Given the description of an element on the screen output the (x, y) to click on. 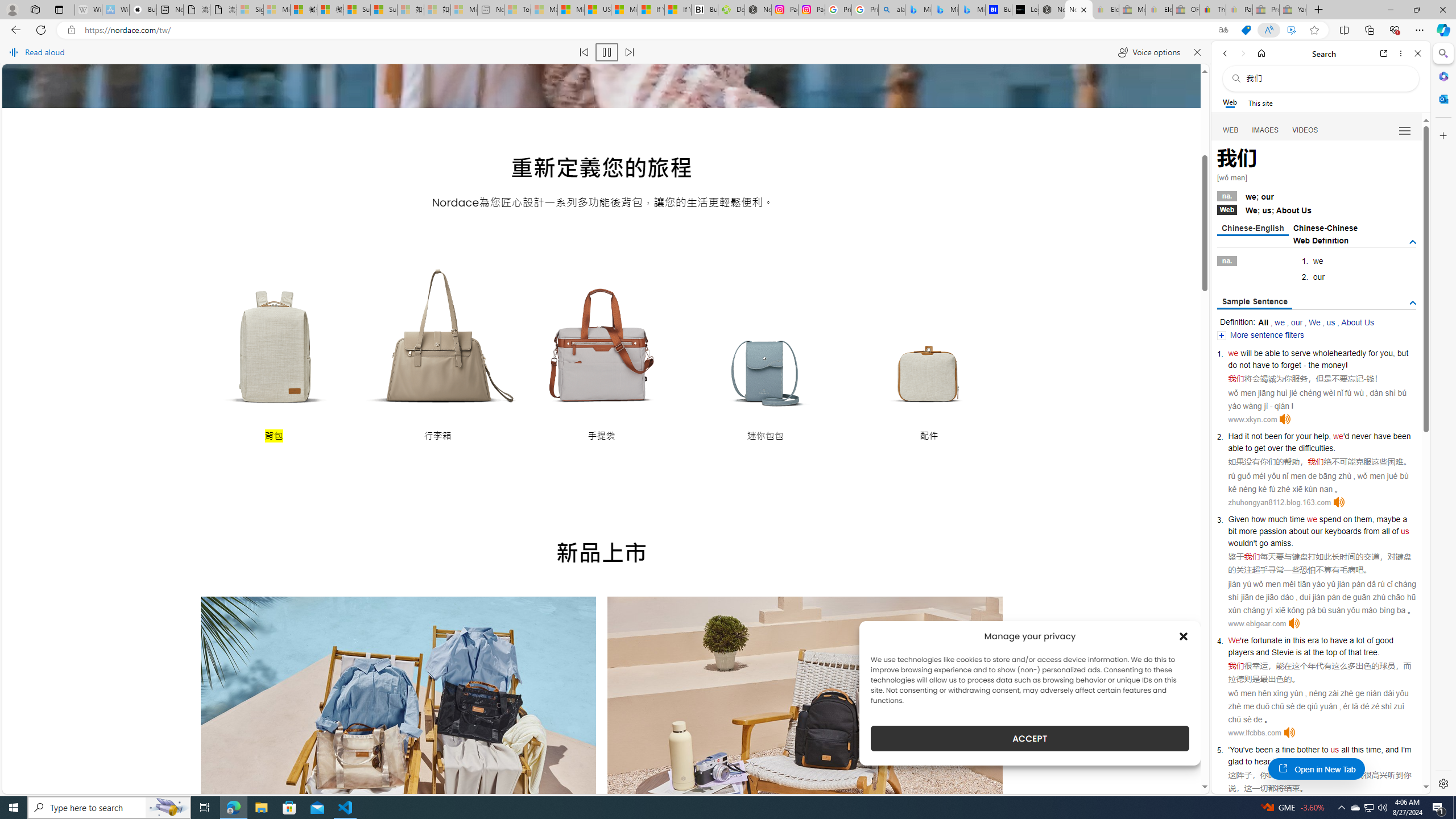
Threats and offensive language policy | eBay (1211, 9)
not (1256, 435)
na.we; our (1316, 195)
for (1372, 352)
AutomationID: tgdef_sen (1412, 302)
Close read aloud (1196, 52)
Web Definition (1321, 240)
fortunate (1266, 640)
